Given the description of an element on the screen output the (x, y) to click on. 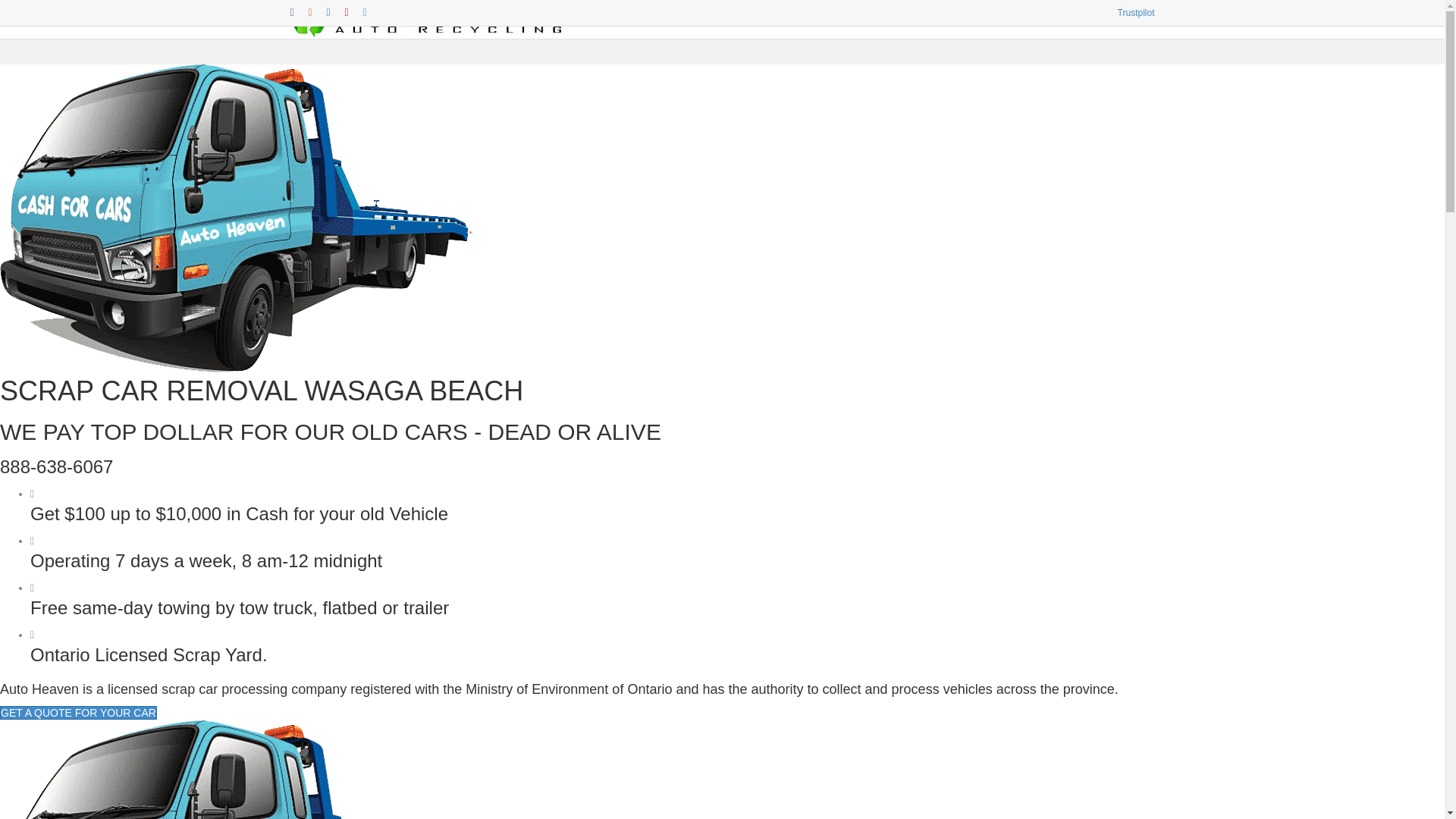
USED AUTO PARTS Element type: text (435, 771)
1-888-638-6067 Element type: text (1102, 19)
Trustpilot Element type: text (1135, 12)
888-638-6067 Element type: text (56, 466)
Google-maps Element type: text (316, 11)
Scrap Car Removal Element type: hover (236, 218)
ABOUT Element type: text (1027, 19)
SEO Element type: text (1056, 776)
SERVICES Element type: text (970, 19)
Facebook Element type: text (298, 11)
Linkedin Element type: text (335, 11)
Youtube Element type: text (353, 11)
PRIVACY POLICY Element type: text (327, 797)
RANKPRO LABS Element type: text (1118, 776)
SATISFACTION GUARANTEE Element type: text (563, 771)
SCRAP YOUR CAR Element type: text (331, 771)
SCRAP CAR REMOVAL TORONTO Element type: text (460, 797)
GET A QUOTE FOR YOUR CAR Element type: text (78, 712)
Instagram Element type: text (371, 11)
HOW TO SCRAP A CAR Element type: text (870, 19)
WEBSITE DESIGN Element type: text (984, 776)
